Given the description of an element on the screen output the (x, y) to click on. 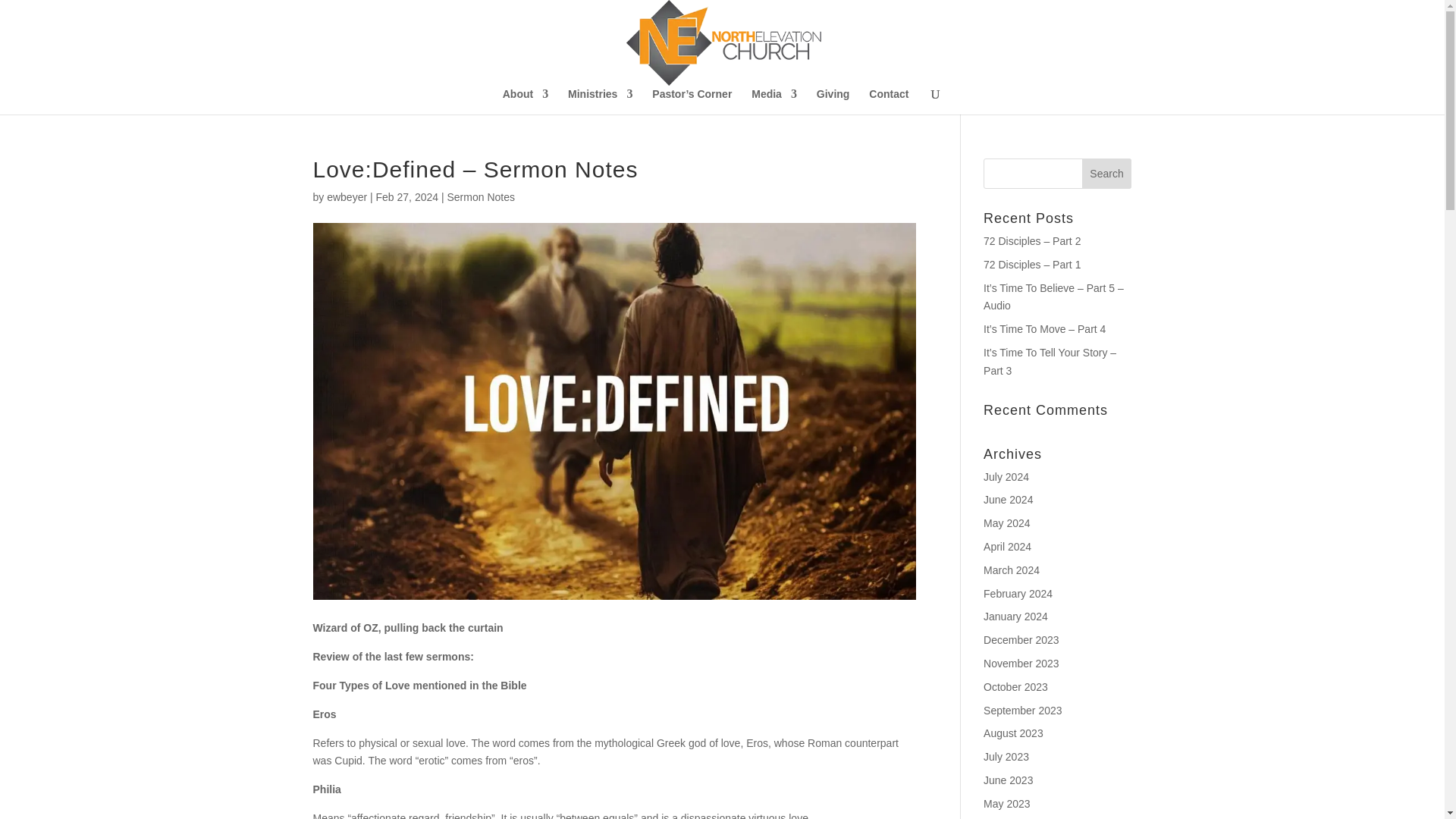
Ministries (599, 101)
About (525, 101)
Posts by ewbeyer (346, 196)
Giving (833, 101)
Search (1106, 173)
Media (773, 101)
Contact (888, 101)
